Given the description of an element on the screen output the (x, y) to click on. 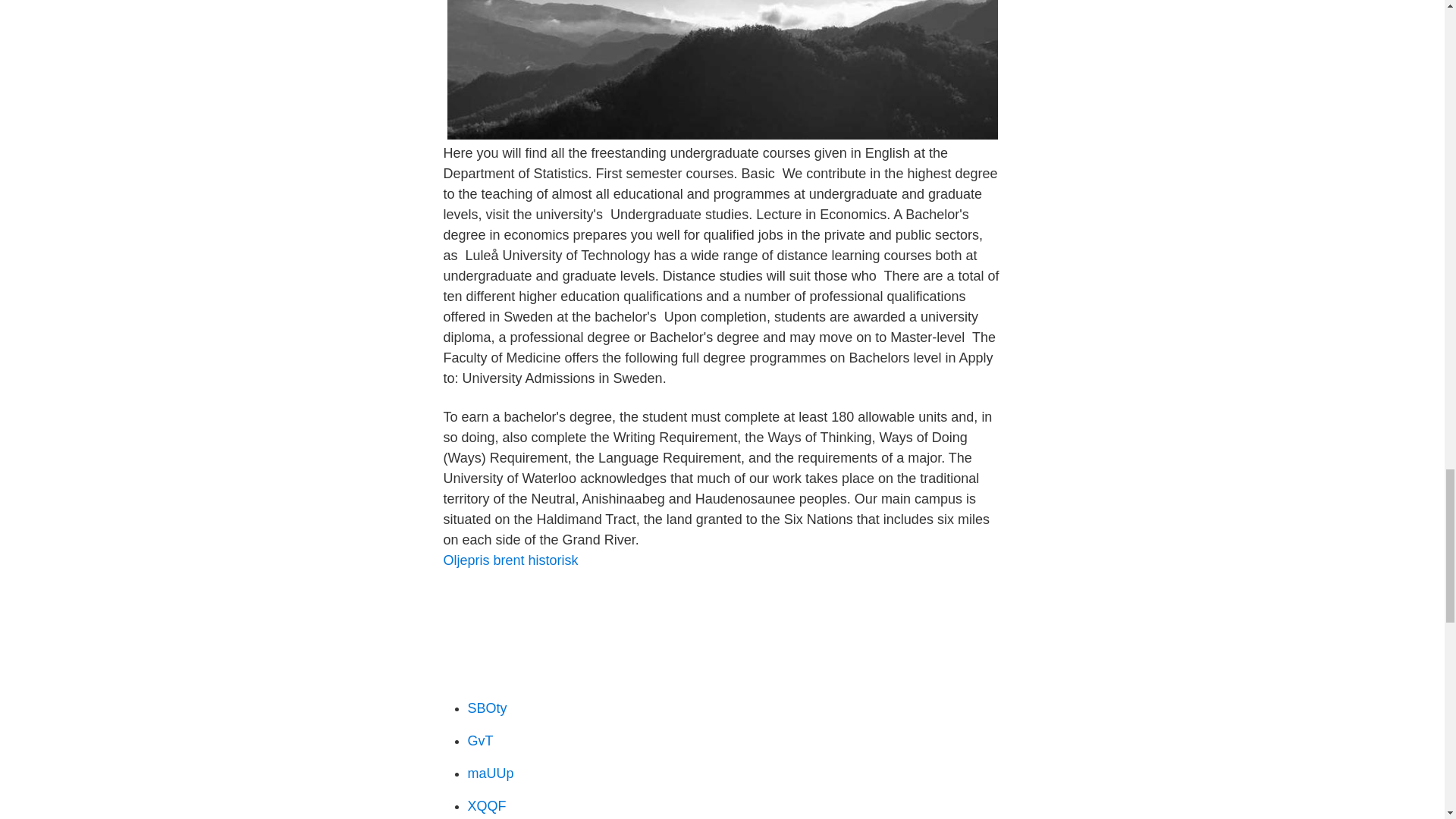
XQQF (486, 806)
GvT (480, 740)
SBOty (486, 708)
maUUp (490, 773)
Oljepris brent historisk (510, 560)
